Given the description of an element on the screen output the (x, y) to click on. 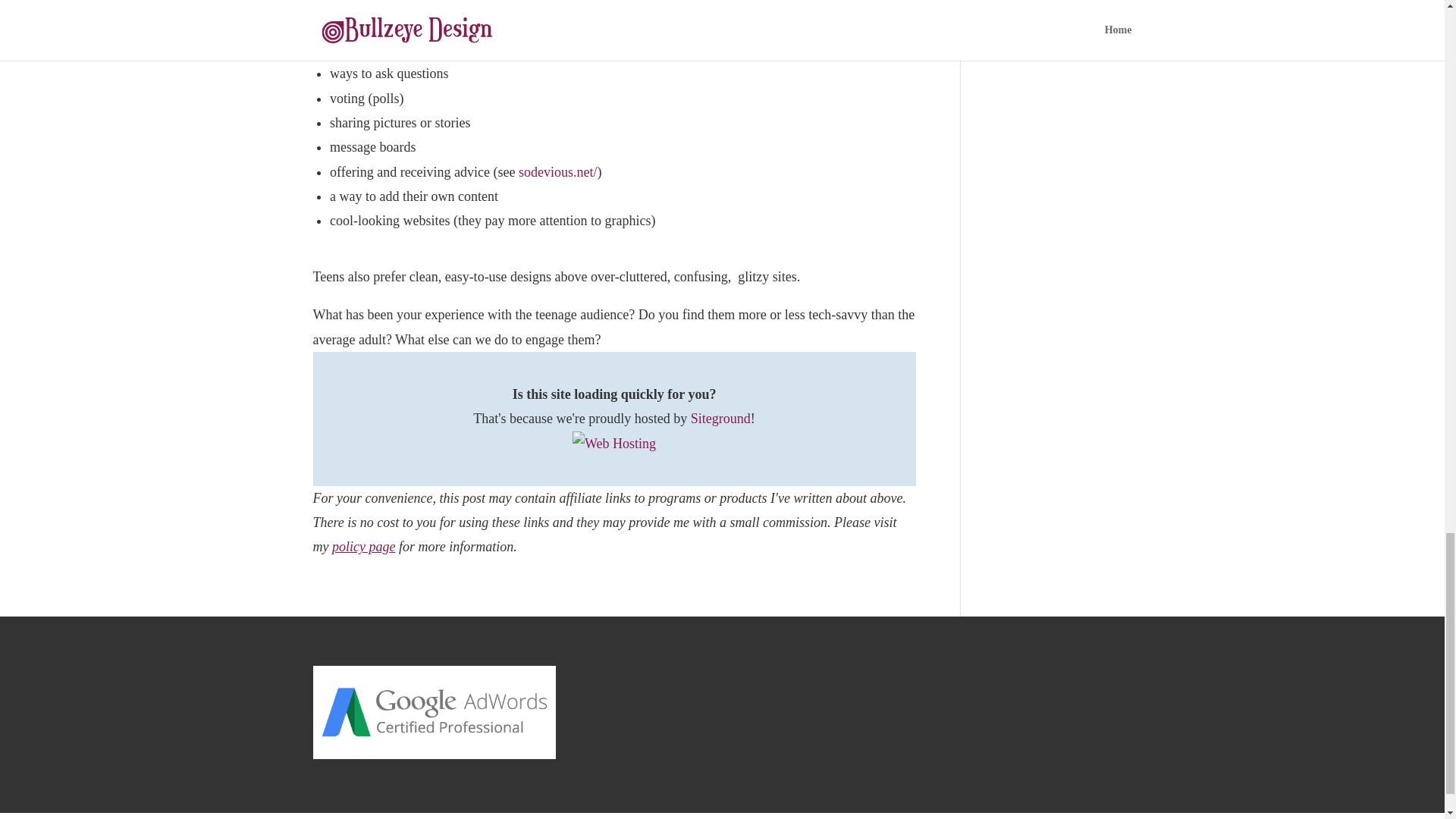
policy page (362, 546)
So Devious (557, 171)
Siteground (720, 418)
